Given the description of an element on the screen output the (x, y) to click on. 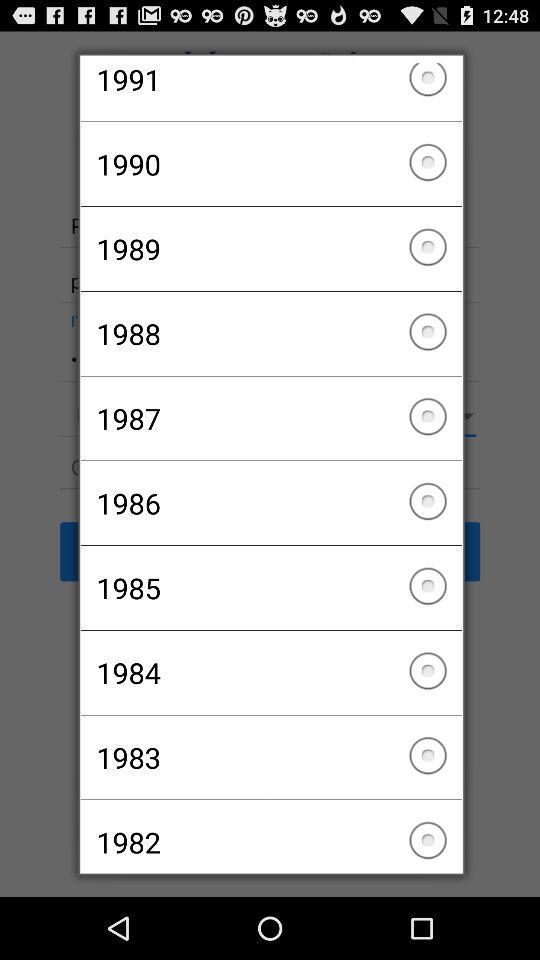
tap item below the 1988 icon (270, 418)
